Given the description of an element on the screen output the (x, y) to click on. 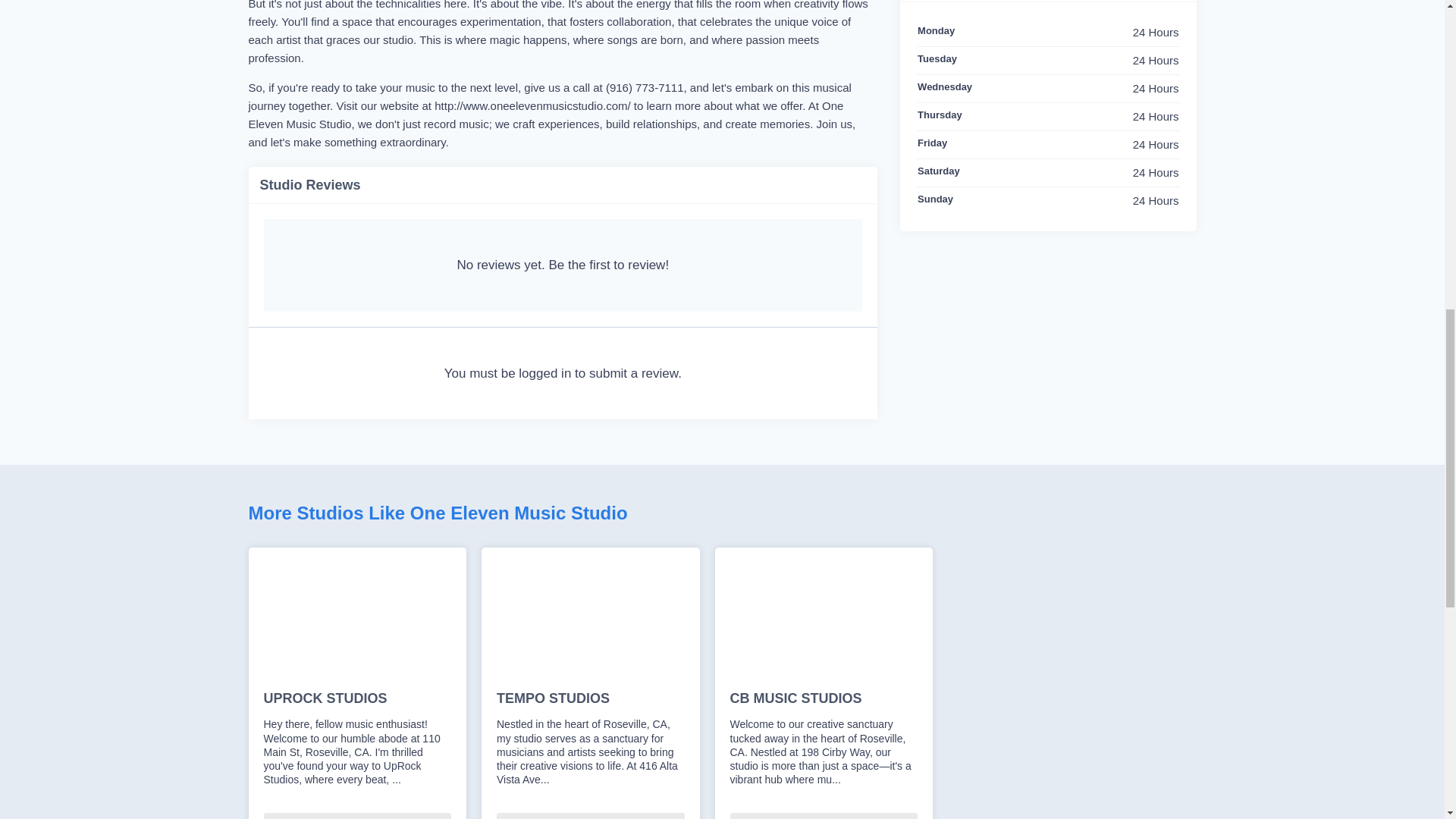
TEMPO STUDIOS (590, 698)
UPROCK STUDIOS (357, 698)
CB MUSIC STUDIOS (823, 698)
View Studio (823, 816)
View Studio (590, 816)
View Studio (357, 816)
